Given the description of an element on the screen output the (x, y) to click on. 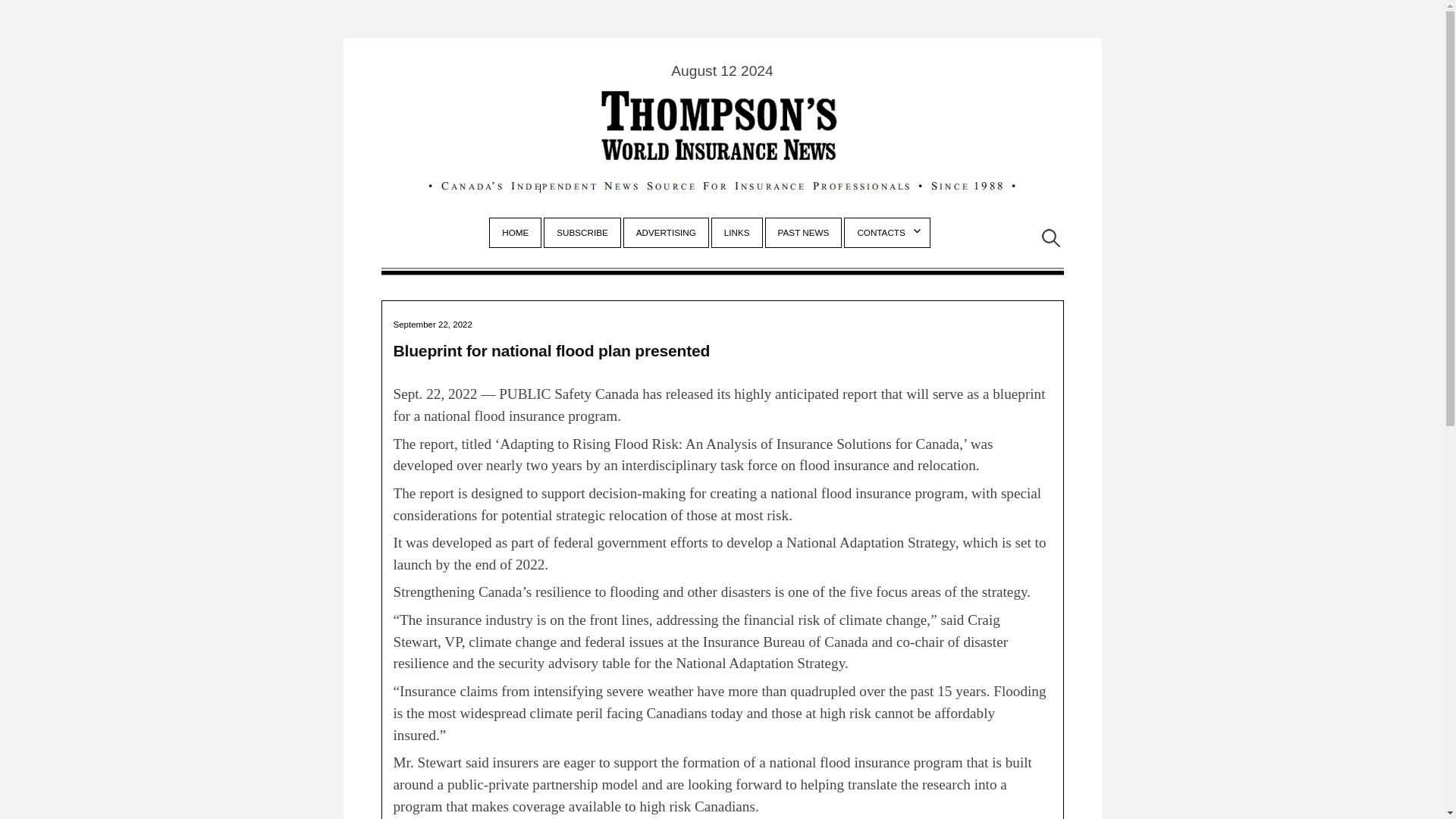
SUBSCRIBE (582, 232)
CONTACTS (886, 232)
PAST NEWS (803, 232)
ADVERTISING (665, 232)
Search (18, 17)
HOME (514, 232)
September 22, 2022 (432, 322)
LINKS (736, 232)
